Given the description of an element on the screen output the (x, y) to click on. 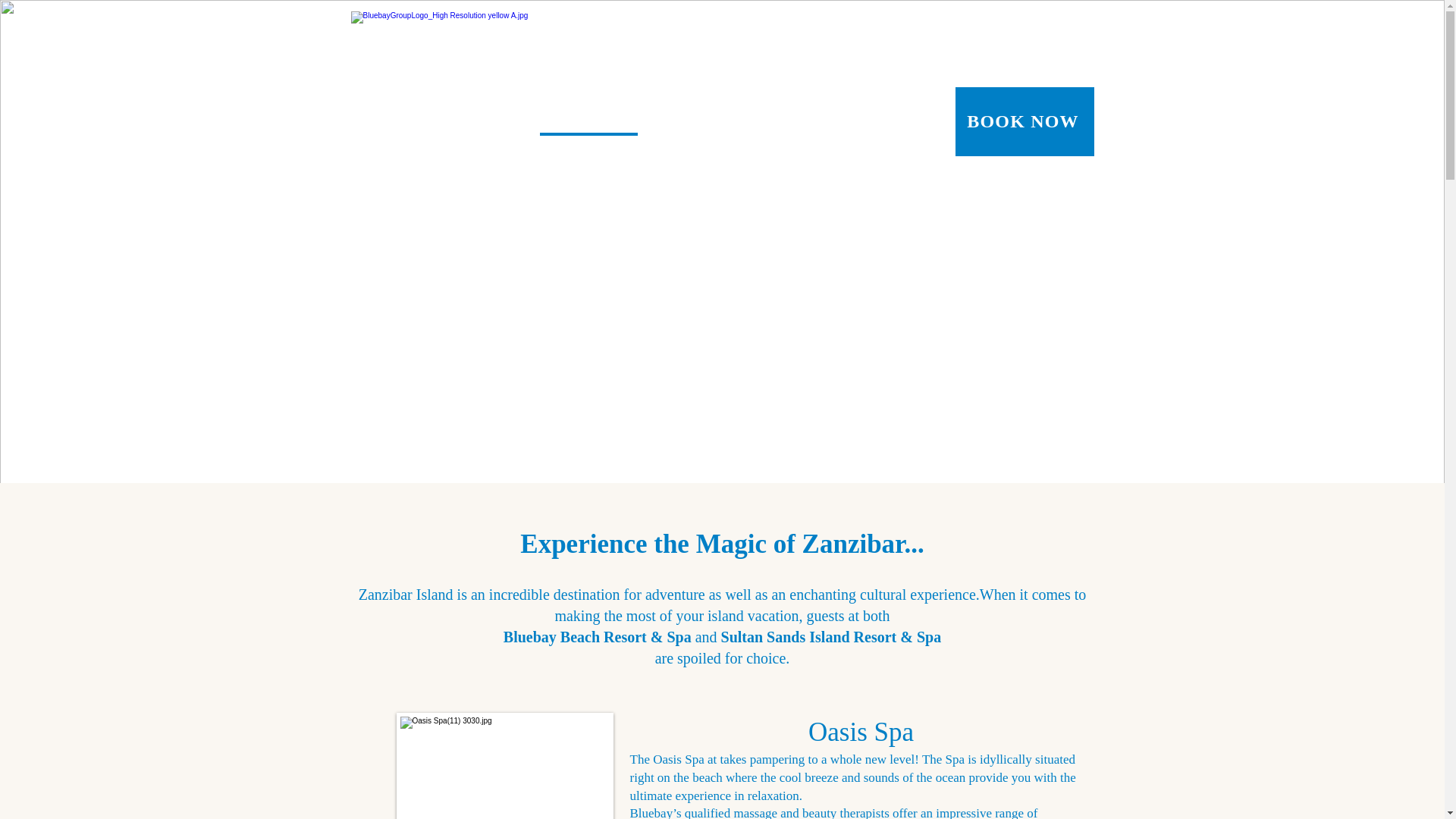
HOME (377, 141)
PRO ZONE (787, 141)
BOOK NOW (1024, 121)
FAQ (658, 141)
SULTAN (507, 141)
EXPERIENCES (587, 141)
GALLERY (713, 141)
BLUEBAY (440, 141)
